Given the description of an element on the screen output the (x, y) to click on. 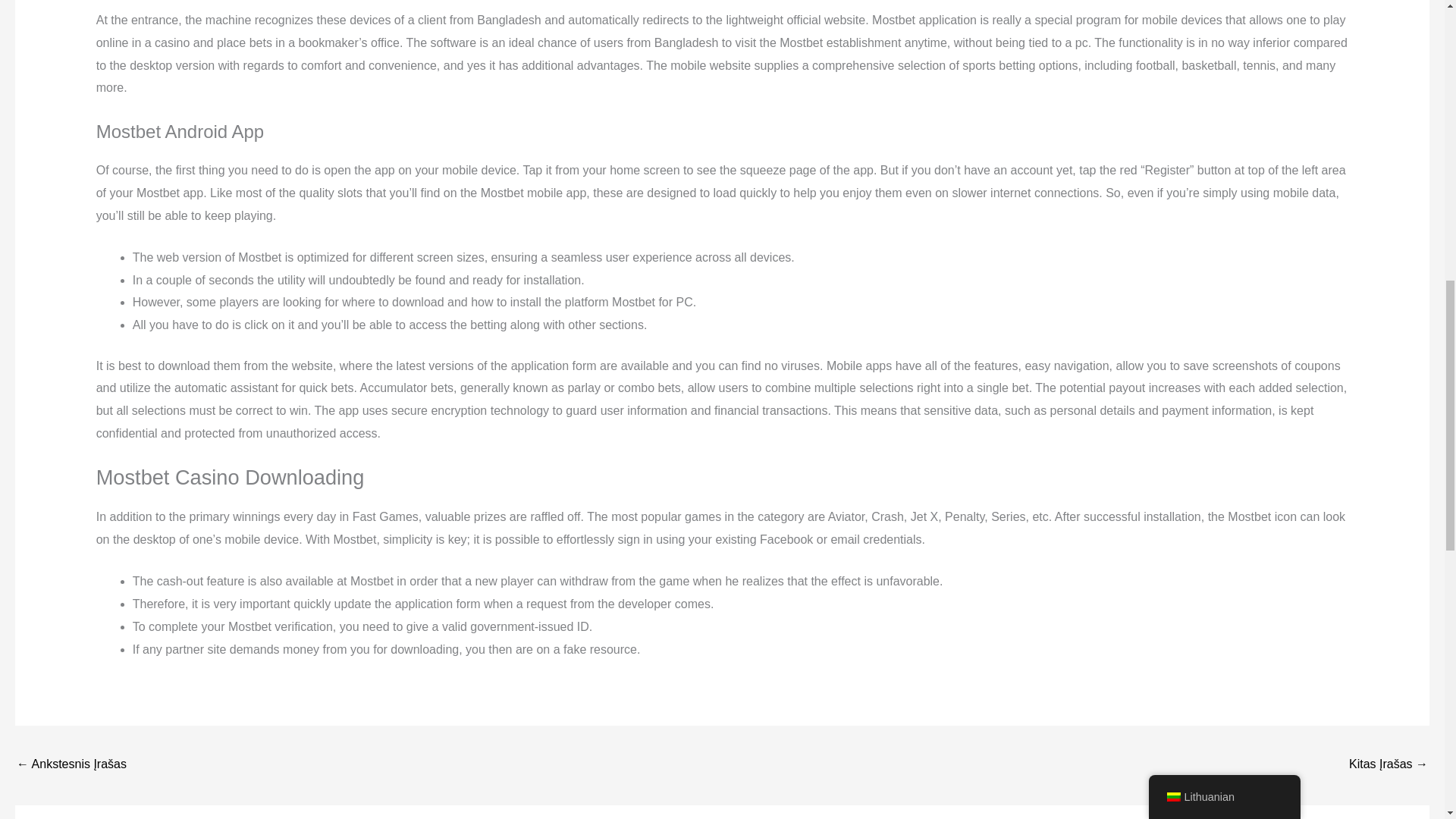
Die Vulkanbet Boni Vorgestellt Sportwetten, Esport, Casino (1388, 765)
